Given the description of an element on the screen output the (x, y) to click on. 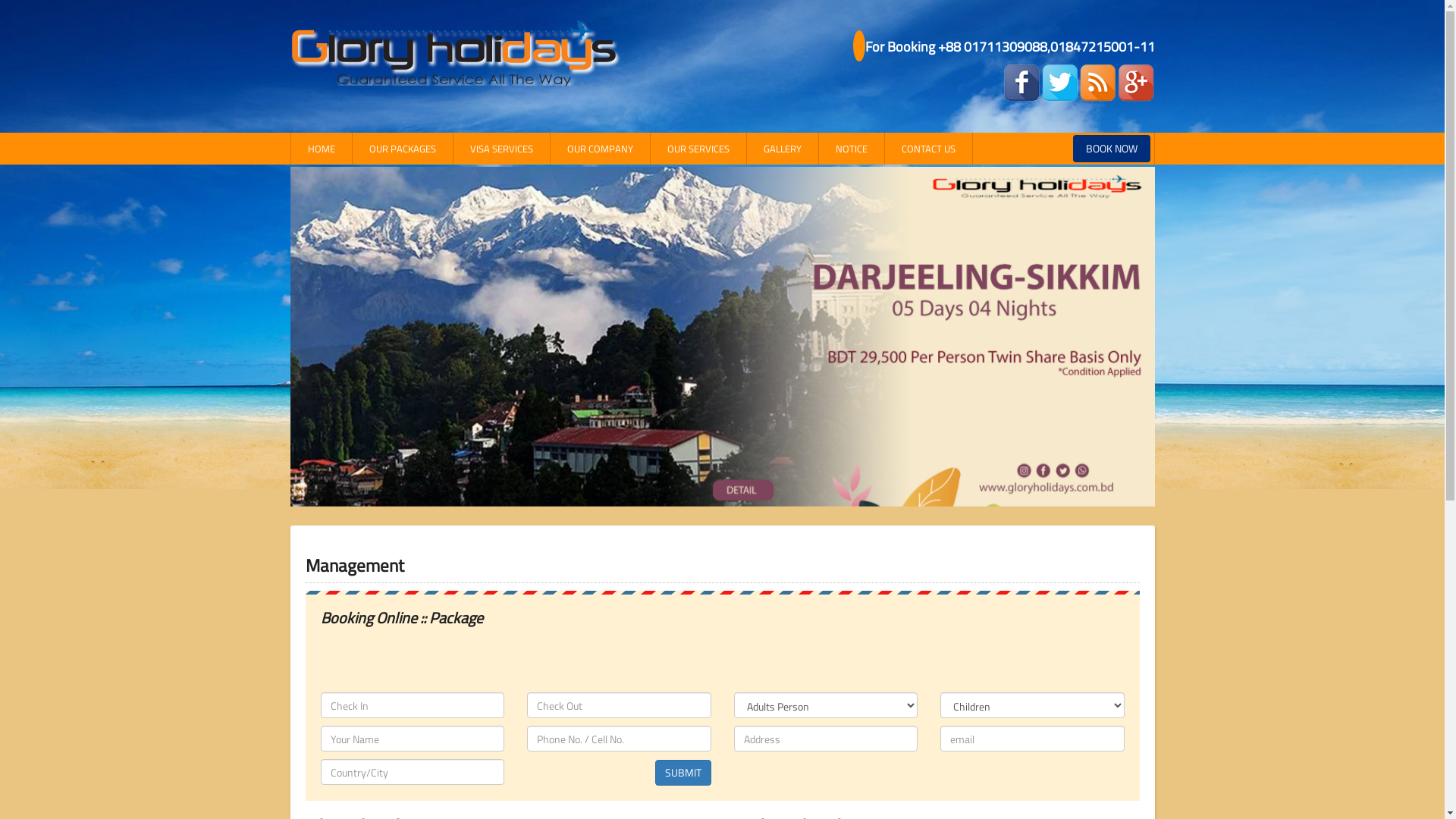
OUR COMPANY Element type: text (600, 148)
OUR SERVICES Element type: text (698, 148)
BOOK NOW Element type: text (1110, 148)
HOME Element type: text (321, 148)
OUR PACKAGES Element type: text (401, 148)
GALLERY Element type: text (782, 148)
CONTACT US Element type: text (928, 148)
VISA SERVICES Element type: text (501, 148)
SUBMIT Element type: text (683, 772)
NOTICE Element type: text (851, 148)
